Given the description of an element on the screen output the (x, y) to click on. 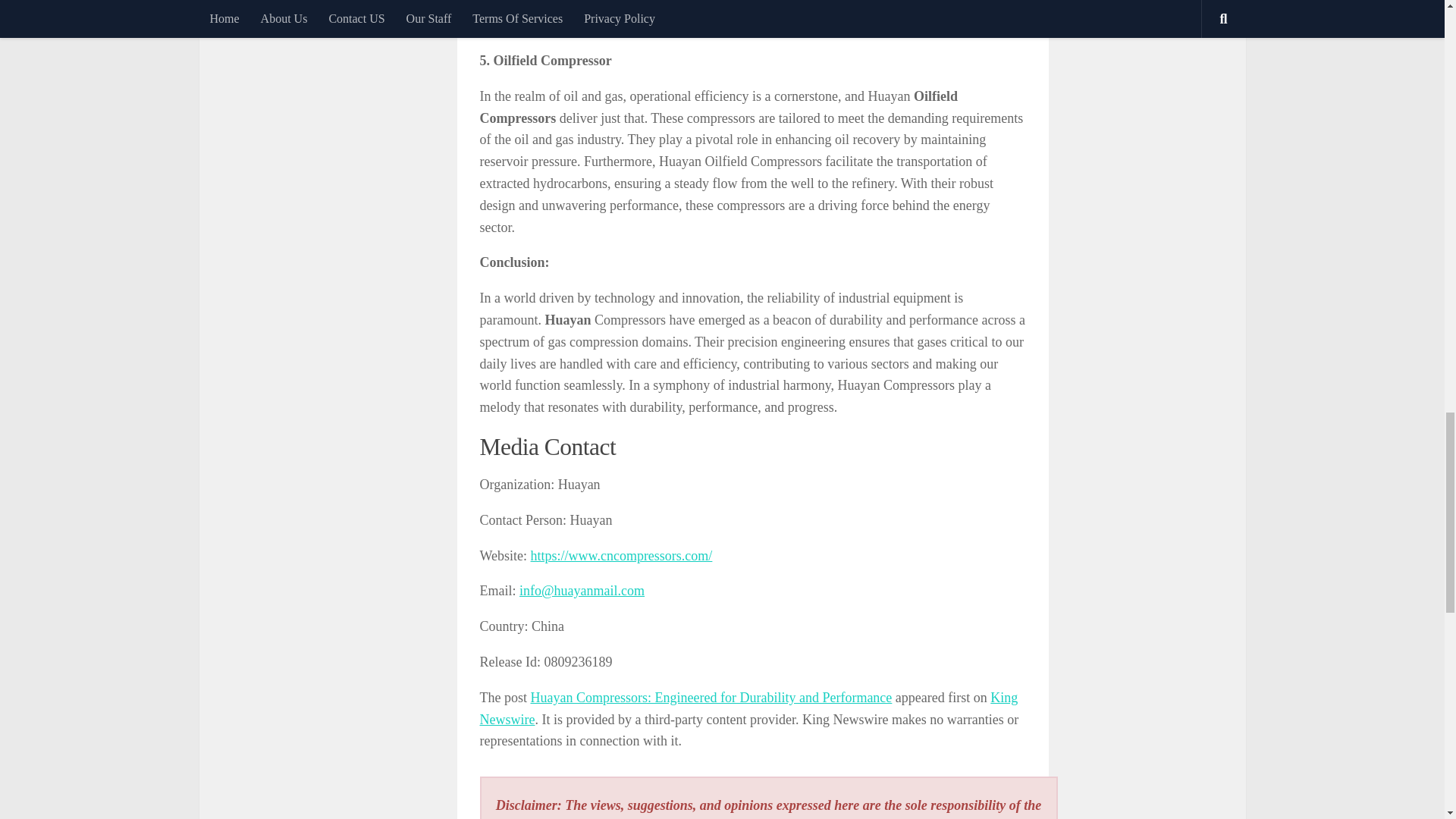
King Newswire (748, 708)
